Given the description of an element on the screen output the (x, y) to click on. 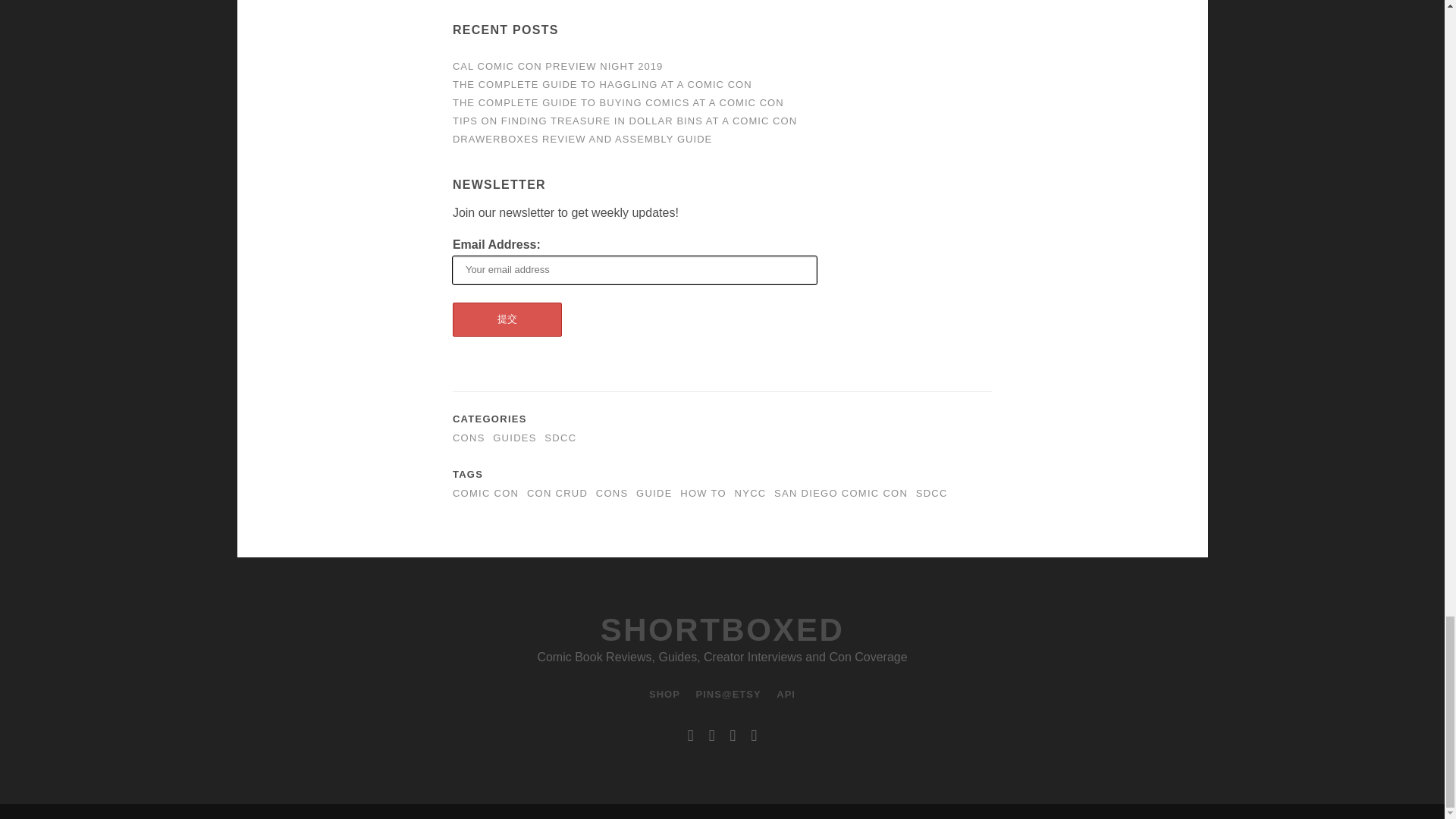
THE COMPLETE GUIDE TO HAGGLING AT A COMIC CON (602, 84)
GUIDES (515, 437)
View all posts in Guides (515, 437)
TIPS ON FINDING TREASURE IN DOLLAR BINS AT A COMIC CON (624, 120)
DRAWERBOXES REVIEW AND ASSEMBLY GUIDE (581, 138)
View all posts in Cons (468, 437)
CONS (468, 437)
COMIC CON (485, 492)
THE COMPLETE GUIDE TO BUYING COMICS AT A COMIC CON (618, 102)
CAL COMIC CON PREVIEW NIGHT 2019 (557, 66)
SDCC (560, 437)
